Given the description of an element on the screen output the (x, y) to click on. 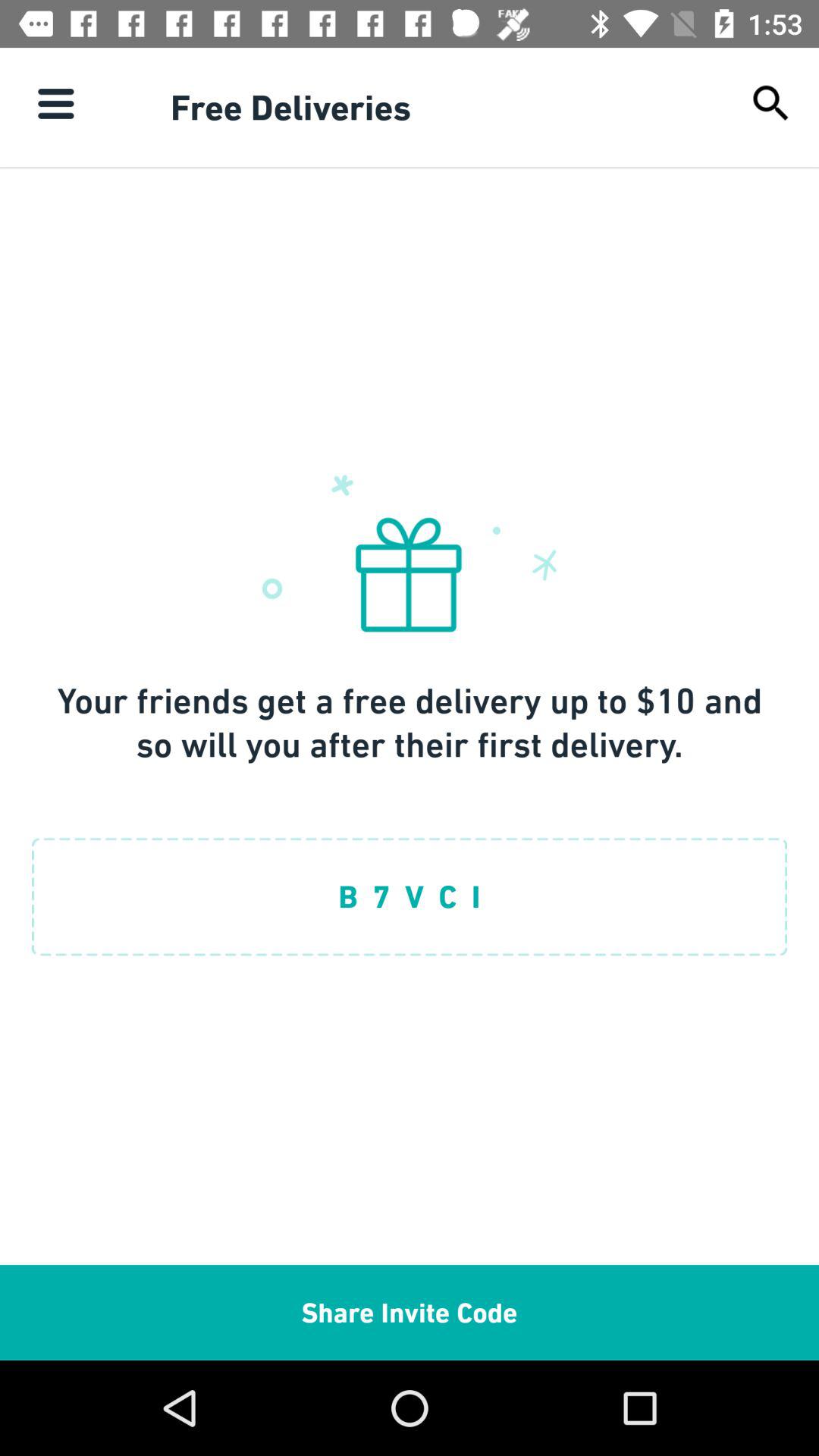
turn off the item below b 7 v item (409, 1312)
